Given the description of an element on the screen output the (x, y) to click on. 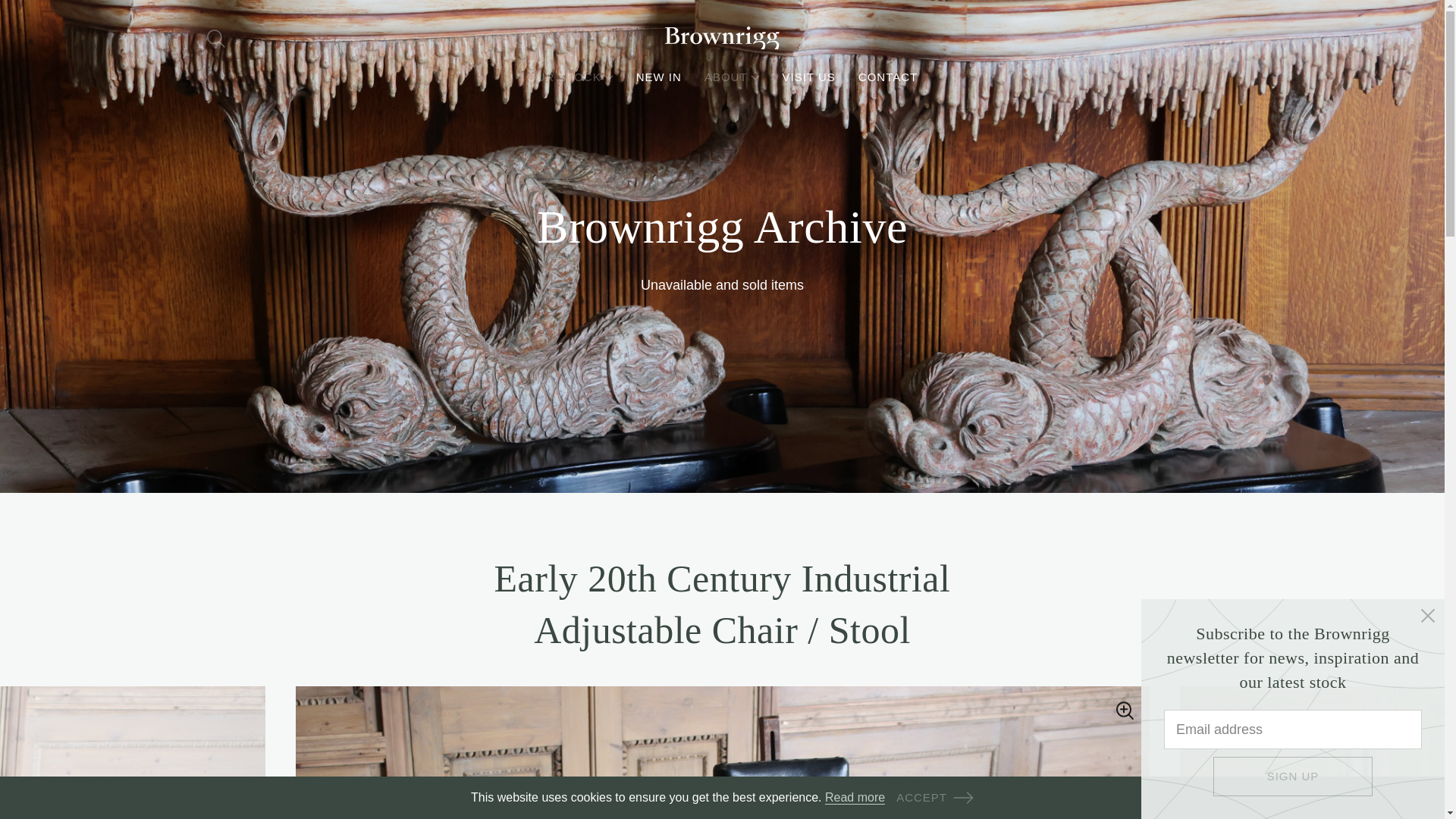
ABOUT (732, 77)
Brownrigg Interiors (720, 37)
CONTACT (888, 77)
VISIT US (809, 77)
OUR STOCK (569, 77)
NEW IN (658, 77)
